Given the description of an element on the screen output the (x, y) to click on. 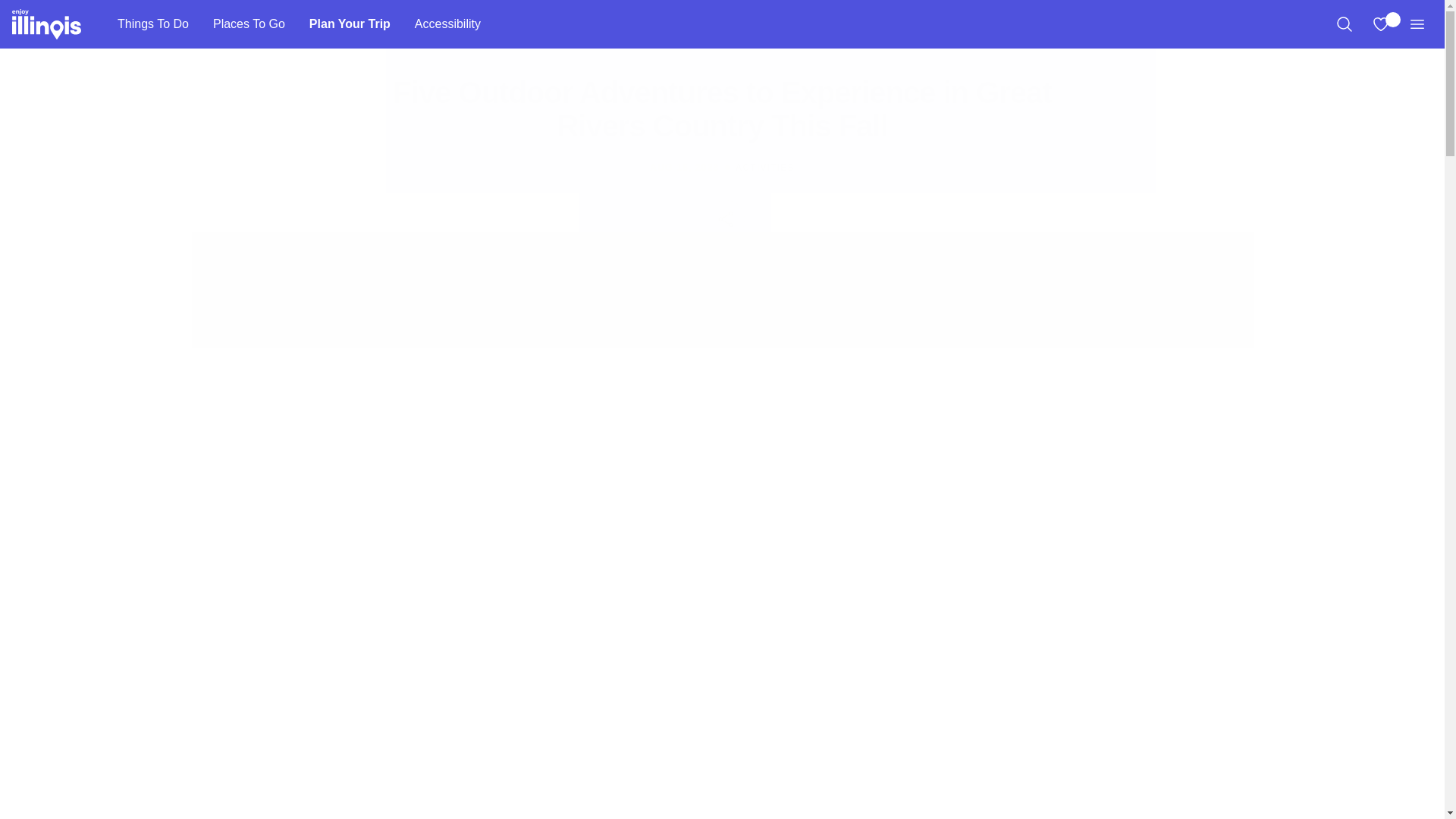
Accessibility (448, 24)
View My Favorites (1380, 24)
Plan Your Trip (350, 24)
Search the Site (1344, 24)
Places To Go (248, 24)
Activities (764, 167)
Menu (1417, 24)
Things To Do (152, 24)
